Given the description of an element on the screen output the (x, y) to click on. 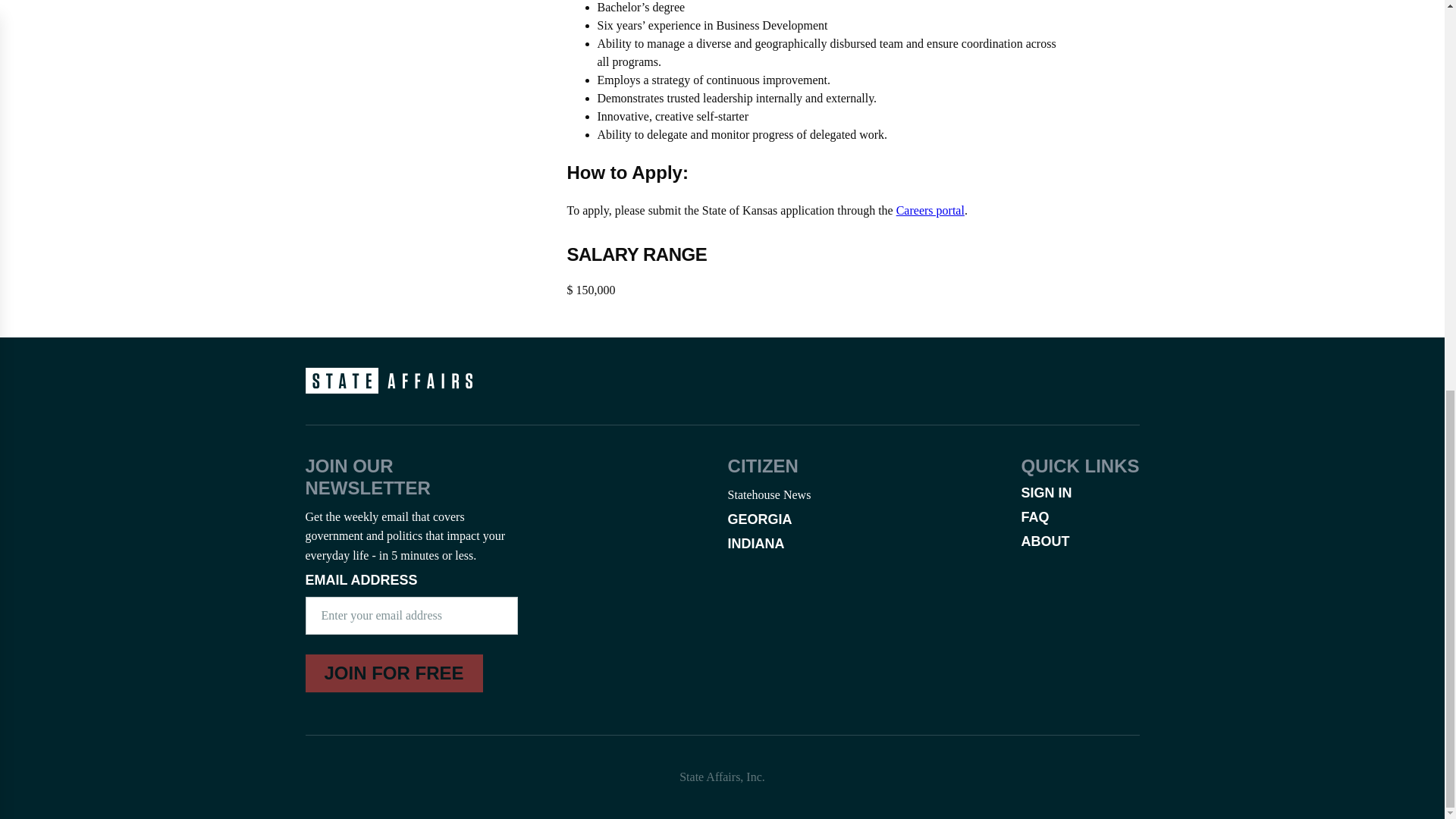
JOIN FOR FREE (392, 673)
Careers portal (929, 210)
GEORGIA (760, 519)
Sign In (1045, 492)
SIGN IN (1045, 492)
ABOUT (1044, 540)
Georgia (760, 519)
Indiana (756, 543)
Faq (1034, 516)
FAQ (1034, 516)
INDIANA (756, 543)
